Given the description of an element on the screen output the (x, y) to click on. 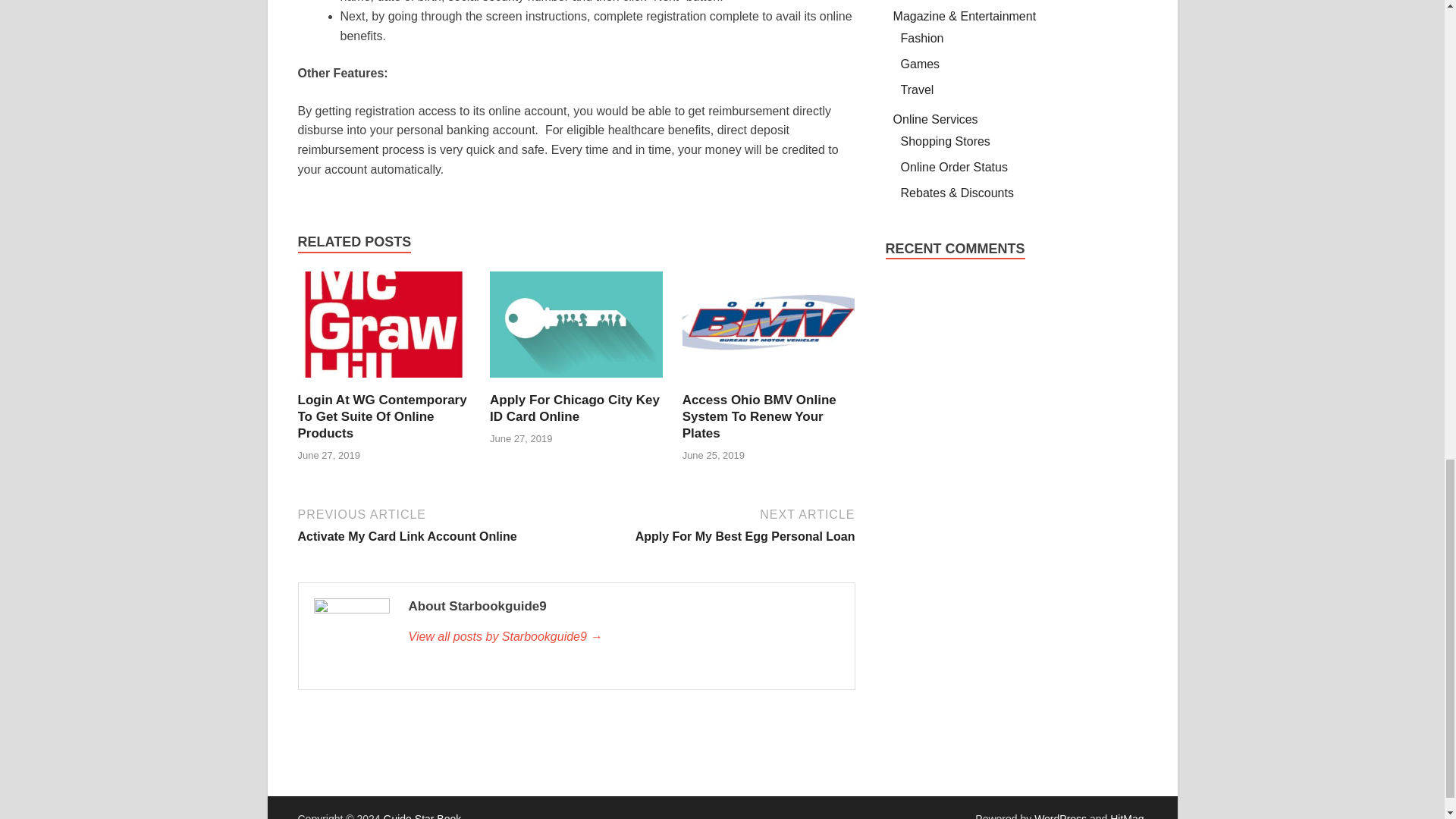
Apply For Chicago City Key ID Card Online (574, 408)
Access Ohio BMV Online System To Renew Your Plates (758, 416)
Starbookguide9 (434, 524)
Login At WG Contemporary To Get Suite Of Online Products (622, 637)
Apply For Chicago City Key ID Card Online (381, 416)
Access Ohio BMV Online System To Renew Your Plates (574, 408)
Login At WG Contemporary To Get Suite Of Online Products (758, 416)
Apply For Chicago City Key ID Card Online (381, 416)
Access Ohio BMV Online System To Renew Your Plates (575, 382)
